Given the description of an element on the screen output the (x, y) to click on. 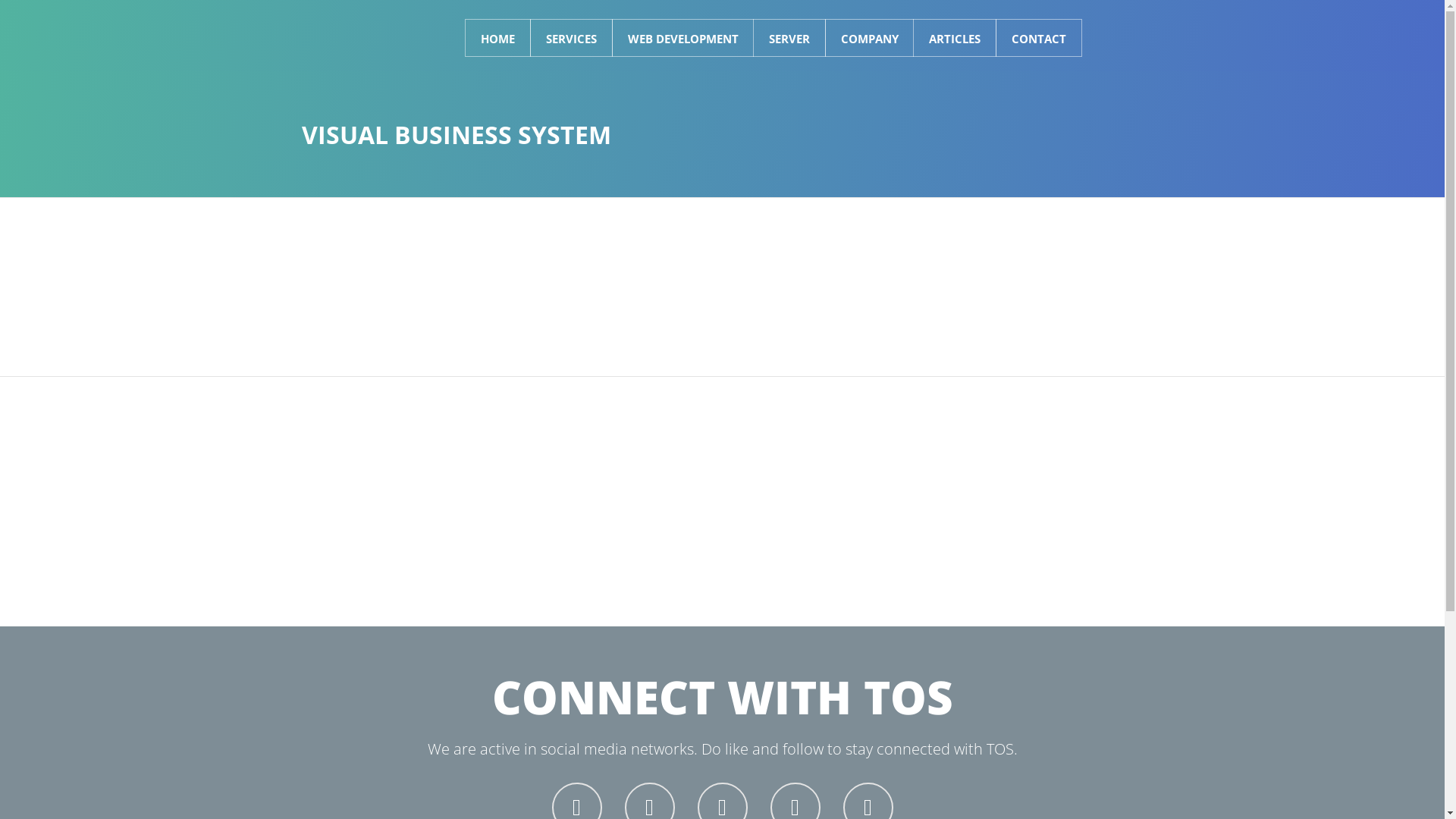
HOME Element type: text (497, 37)
SERVICES Element type: text (570, 37)
ARTICLES Element type: text (954, 37)
WEB DEVELOPMENT Element type: text (682, 37)
CONTACT Element type: text (1037, 37)
COMPANY Element type: text (869, 37)
SERVER Element type: text (788, 37)
